Given the description of an element on the screen output the (x, y) to click on. 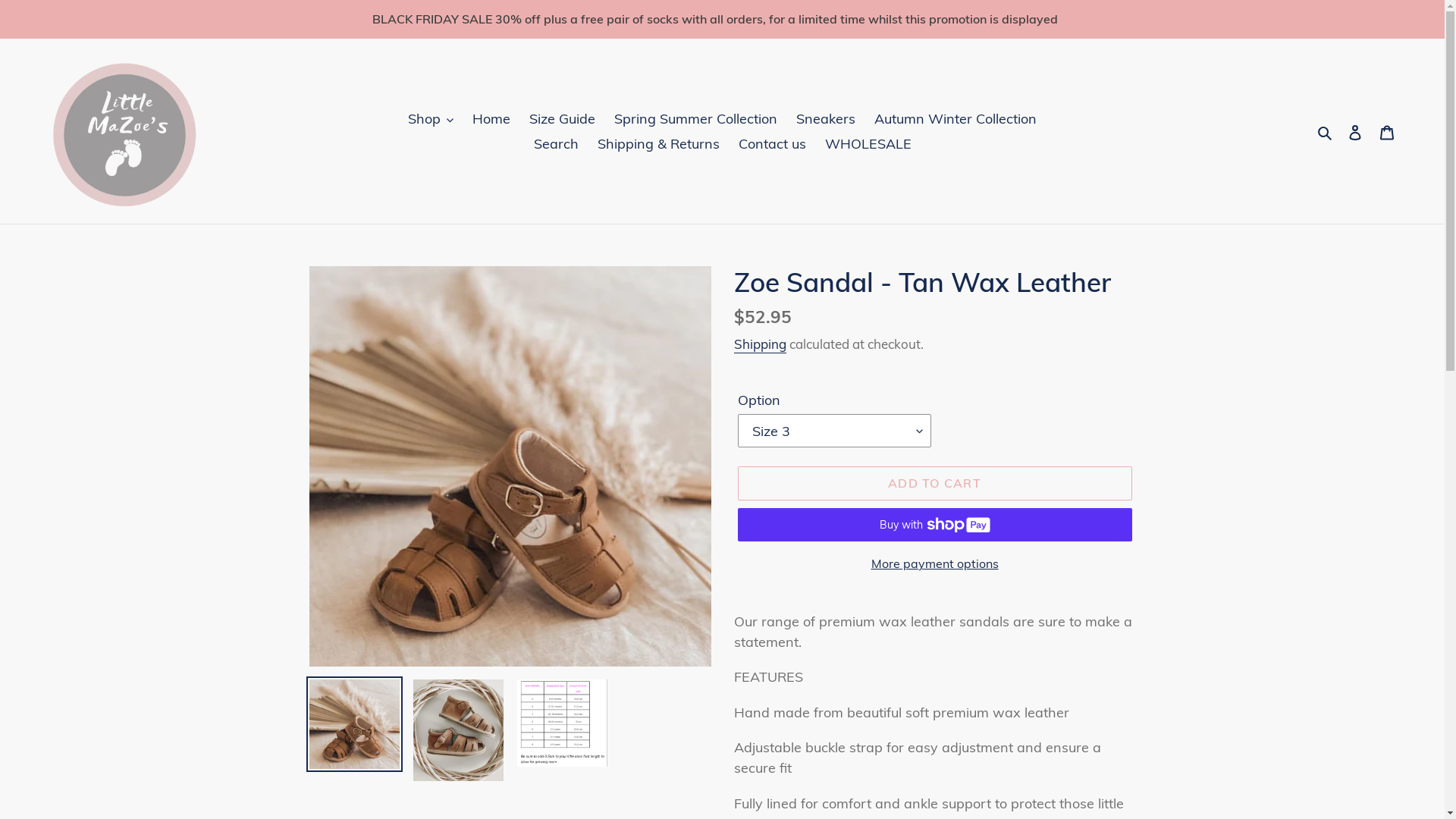
Sneakers Element type: text (825, 118)
Size Guide Element type: text (561, 118)
Log in Element type: text (1355, 130)
Shipping & Returns Element type: text (658, 143)
Spring Summer Collection Element type: text (695, 118)
Autumn Winter Collection Element type: text (955, 118)
Search Element type: text (1325, 130)
More payment options Element type: text (934, 563)
WHOLESALE Element type: text (868, 143)
Shipping Element type: text (760, 344)
Search Element type: text (556, 143)
Cart Element type: text (1386, 130)
ADD TO CART Element type: text (934, 482)
Contact us Element type: text (772, 143)
Home Element type: text (490, 118)
Shop Element type: text (430, 118)
